Given the description of an element on the screen output the (x, y) to click on. 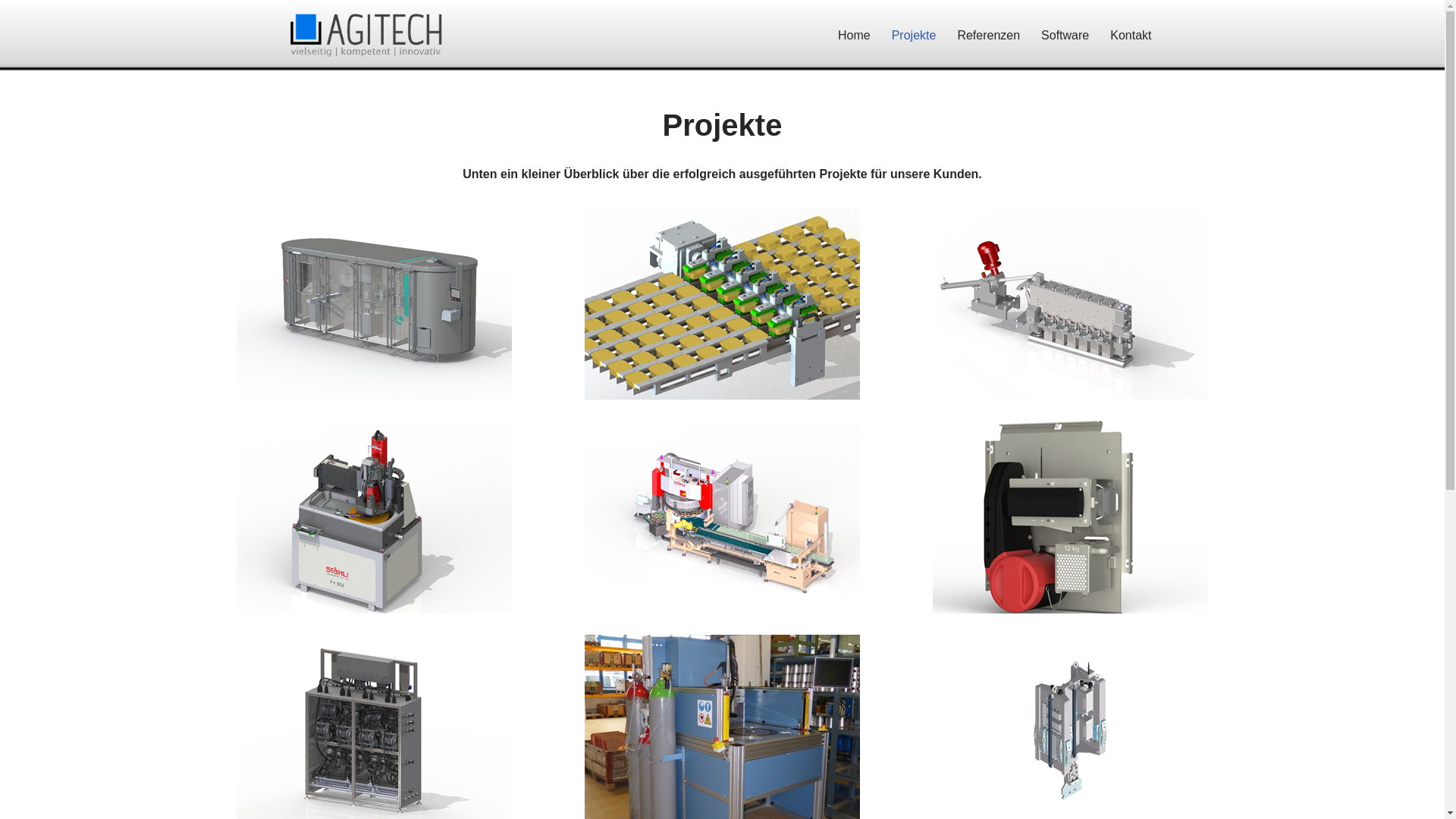
Kontakt Element type: text (1130, 35)
Projekte Element type: text (913, 35)
Home Element type: text (853, 35)
Zum Inhalt springen Element type: text (11, 31)
Referenzen Element type: text (988, 35)
Software Element type: text (1064, 35)
